Given the description of an element on the screen output the (x, y) to click on. 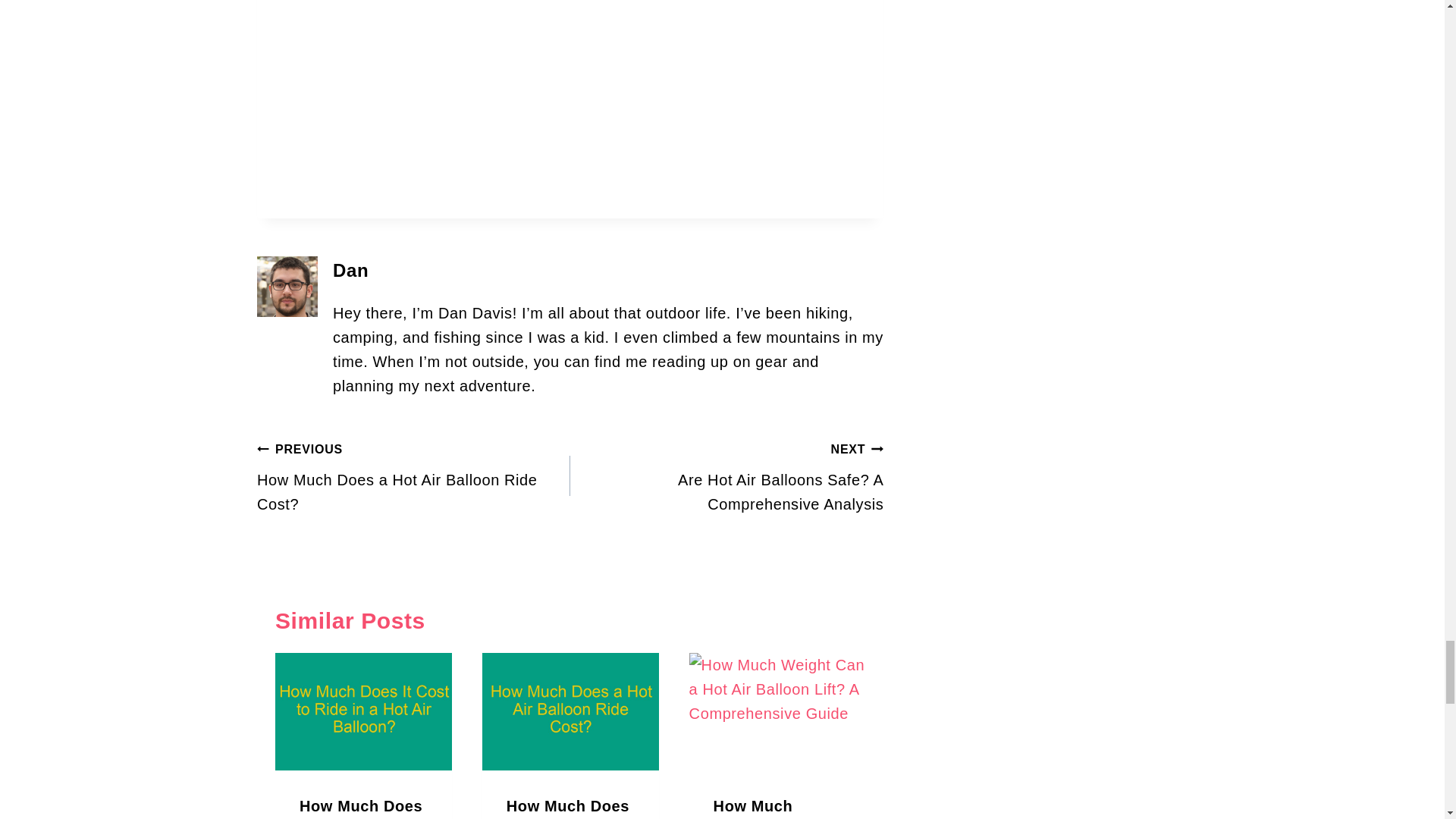
Dan (350, 270)
How Much Does It Cost to Ride in a Hot Air Balloon? (413, 475)
